Given the description of an element on the screen output the (x, y) to click on. 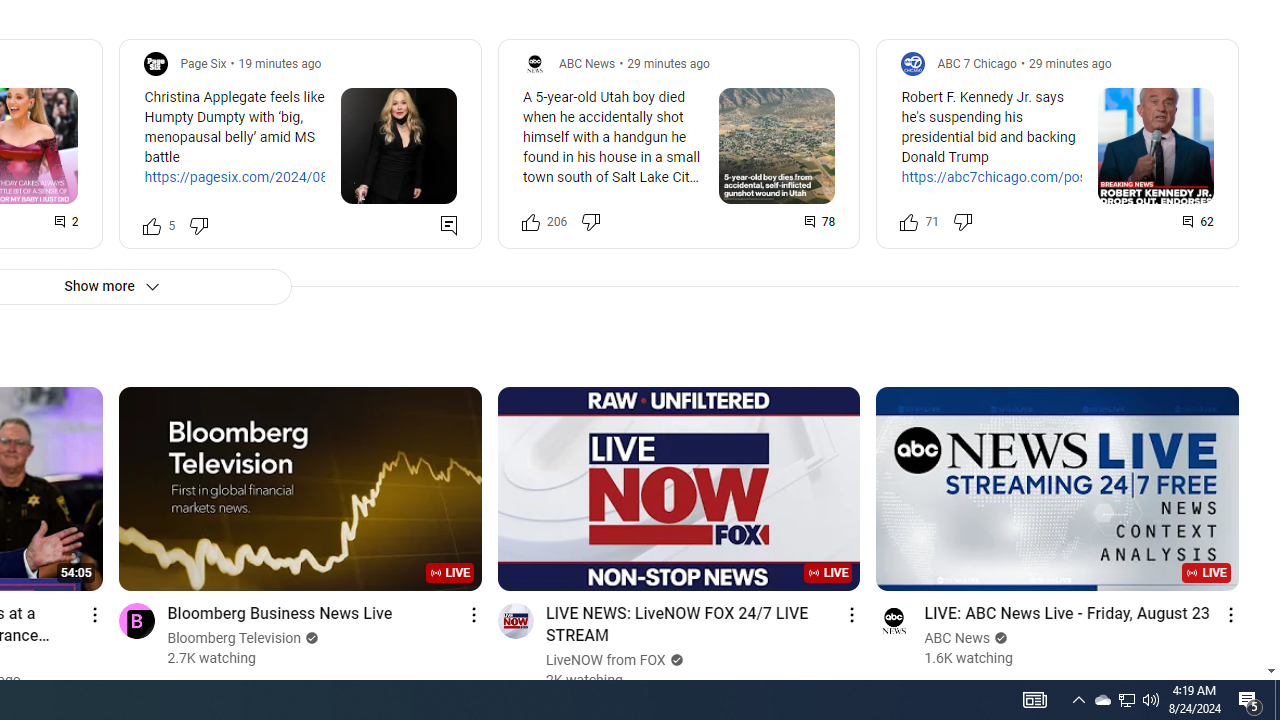
Dislike this post (962, 221)
Action menu (1229, 614)
29 minutes ago (1069, 63)
https://pagesix.com/2024/08/22/entert... (273, 177)
https://abc7chicago.com/post/rfk-jr-w... (1009, 187)
Like this post along with 206 other people (530, 221)
Verified (998, 637)
Like this post along with 71 other people (909, 221)
Comment (1199, 221)
LiveNOW from FOX (606, 660)
Go to channel (893, 620)
19 minutes ago (280, 63)
